Given the description of an element on the screen output the (x, y) to click on. 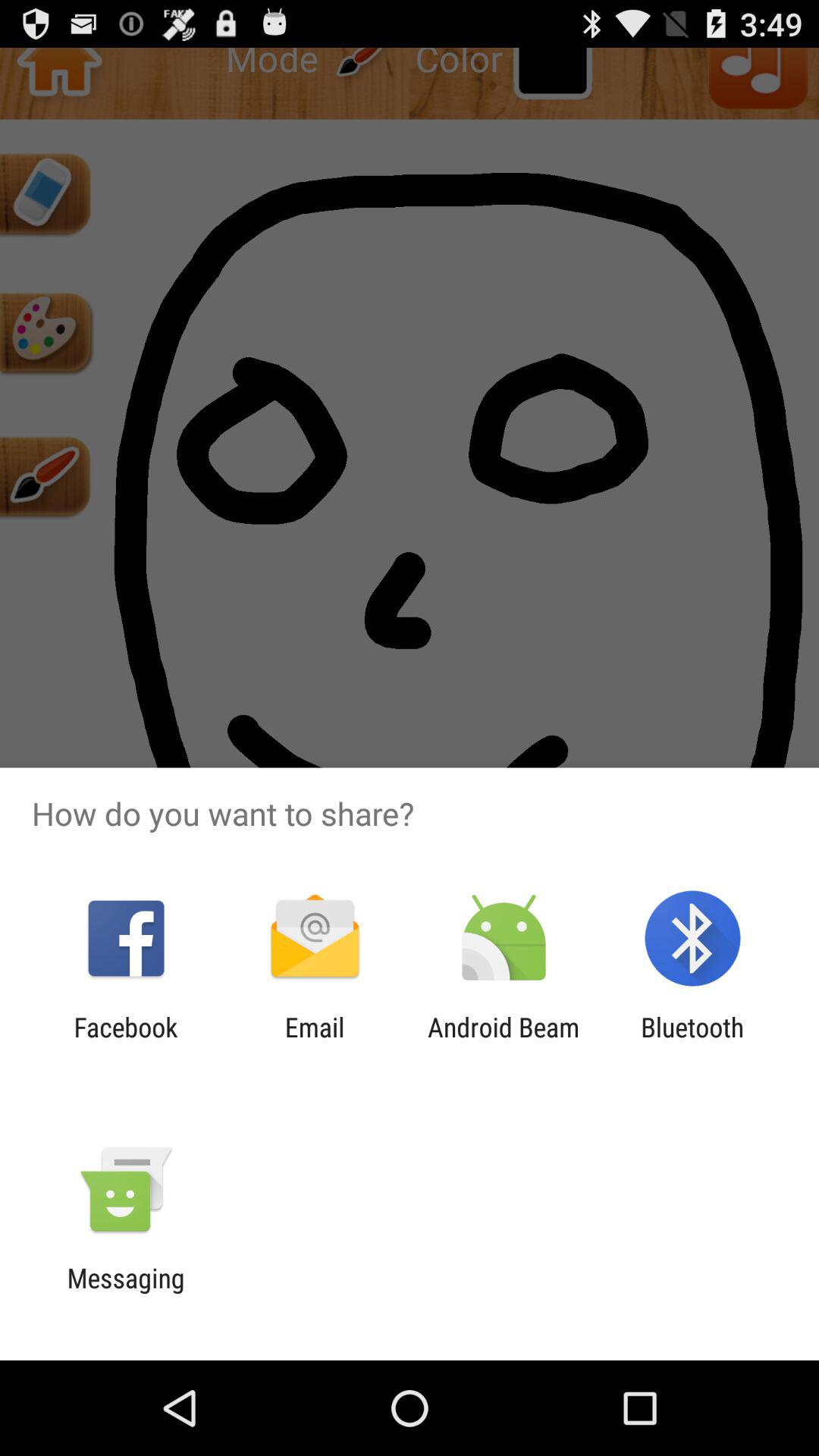
click messaging icon (125, 1293)
